Given the description of an element on the screen output the (x, y) to click on. 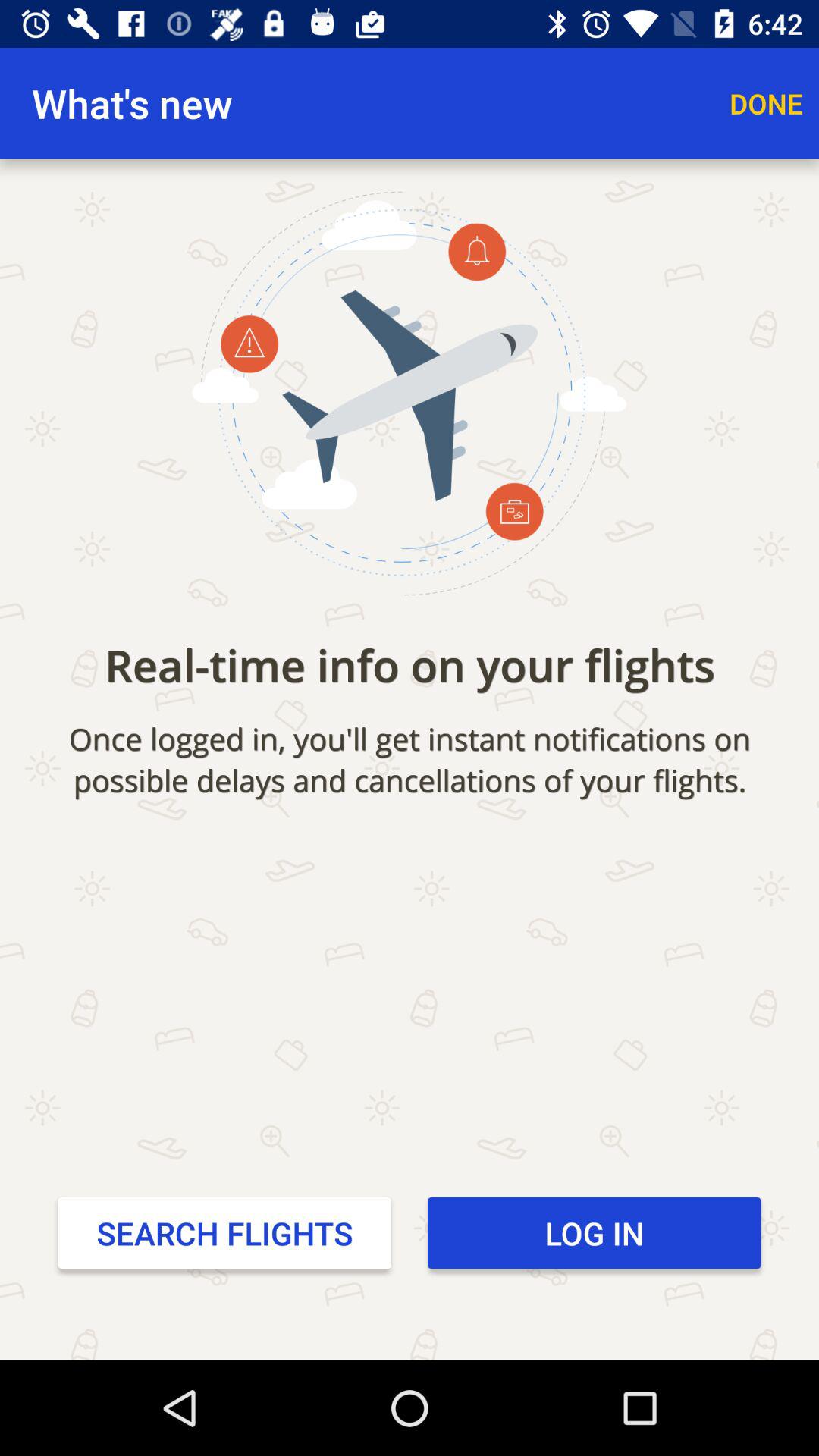
flip to search flights item (224, 1232)
